Given the description of an element on the screen output the (x, y) to click on. 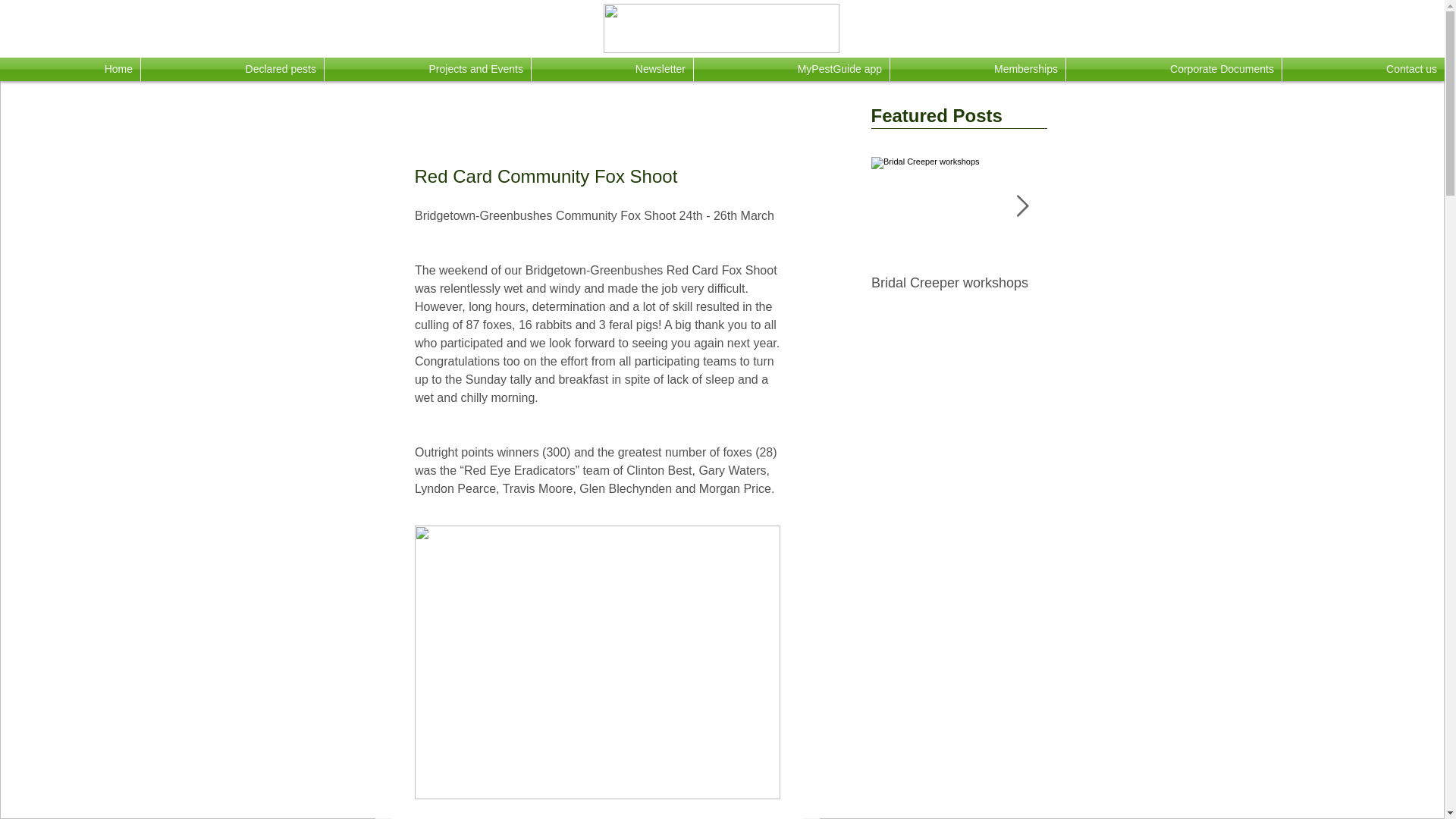
Rabbit Control Calicivirus RHDV1-K5 Release Program (1134, 298)
Home (69, 69)
LogoWhiteWithYellowText.jpg (722, 28)
MyPestGuide app (791, 69)
Bridal Creeper workshops (958, 283)
Newsletter (612, 69)
Projects and Events (427, 69)
Memberships (977, 69)
